Given the description of an element on the screen output the (x, y) to click on. 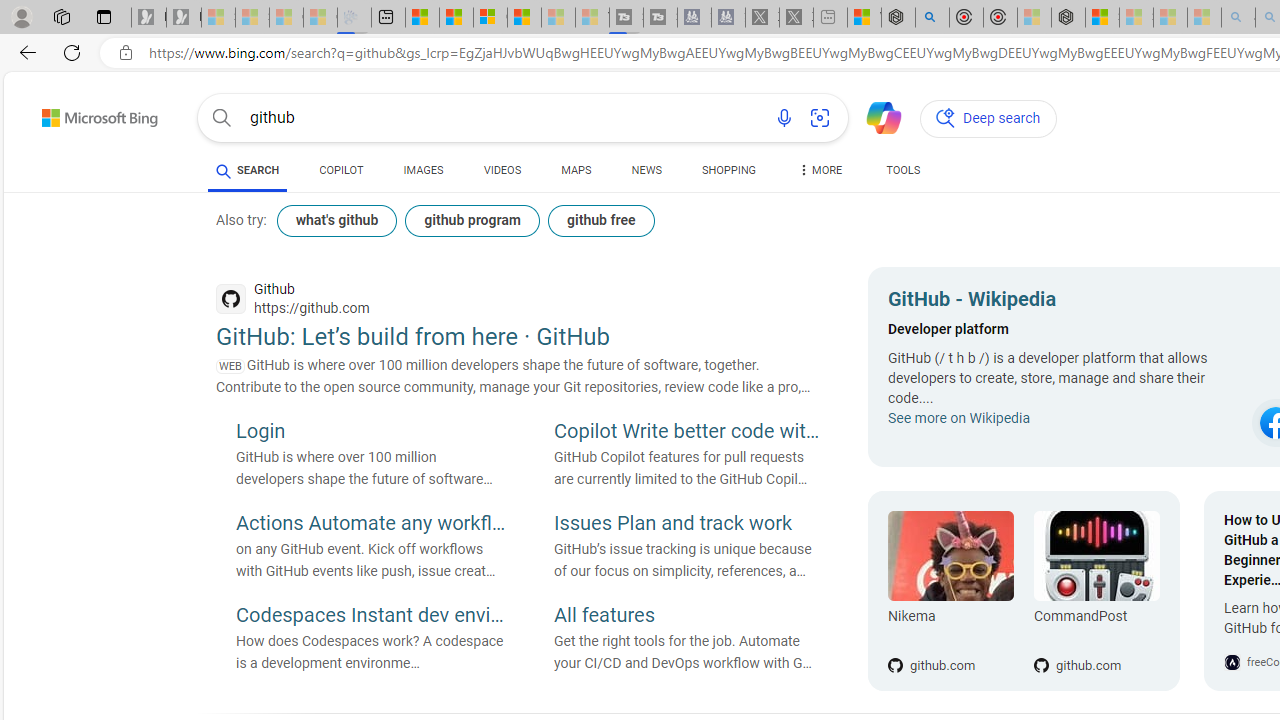
github program (472, 220)
COPILOT (341, 170)
Login (370, 433)
Microsoft Start - Sleeping (557, 17)
Newsletter Sign Up - Sleeping (183, 17)
Issues Plan and track work (689, 525)
Overview (489, 17)
SHOPPING (728, 170)
